Given the description of an element on the screen output the (x, y) to click on. 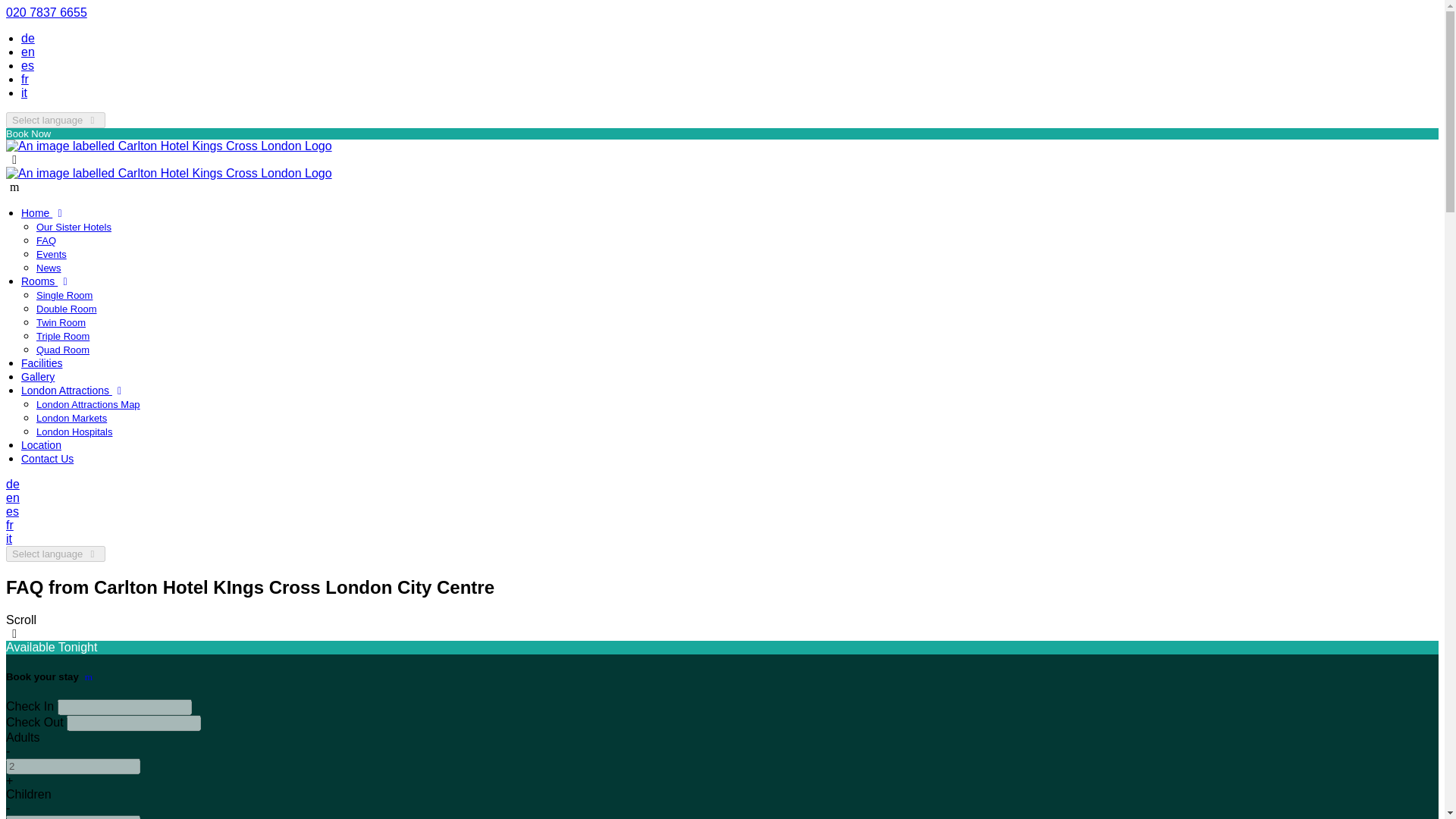
Single Room (64, 295)
Triple Room (62, 336)
de (12, 483)
London Attractions (73, 390)
Rooms (46, 281)
Location (41, 444)
News (48, 267)
de (27, 38)
London Hospitals (74, 431)
Double Room (66, 308)
2 (72, 765)
020 7837 6655 (46, 11)
Our Sister Hotels (74, 226)
Quad Room (62, 349)
London Attractions Map (87, 404)
